Given the description of an element on the screen output the (x, y) to click on. 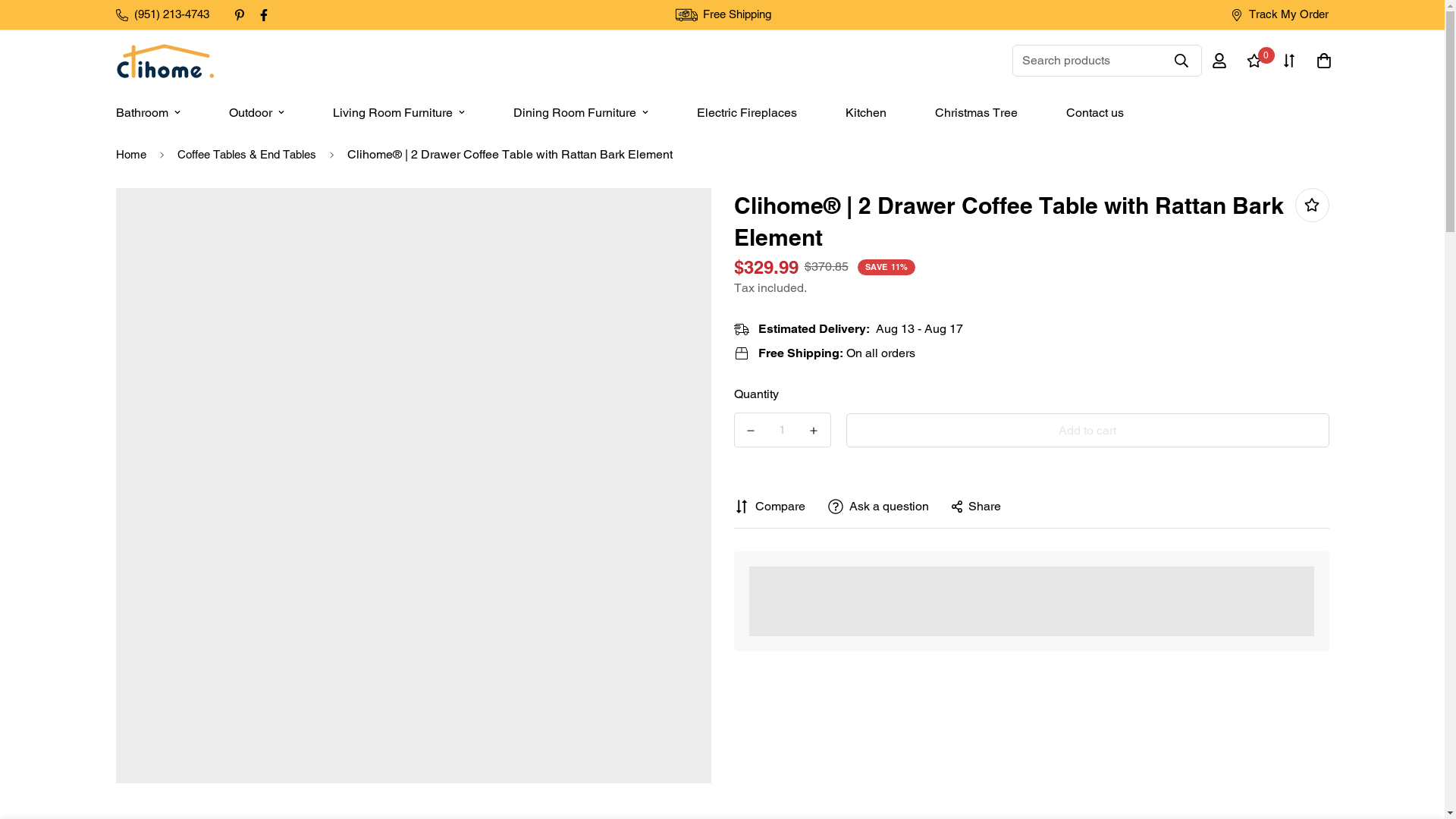
1 (782, 429)
Clihome (164, 60)
Back to the home page (130, 154)
Bathroom (146, 112)
Outdoor (256, 112)
Living Room Furniture (397, 112)
Track My Order (1279, 14)
